Given the description of an element on the screen output the (x, y) to click on. 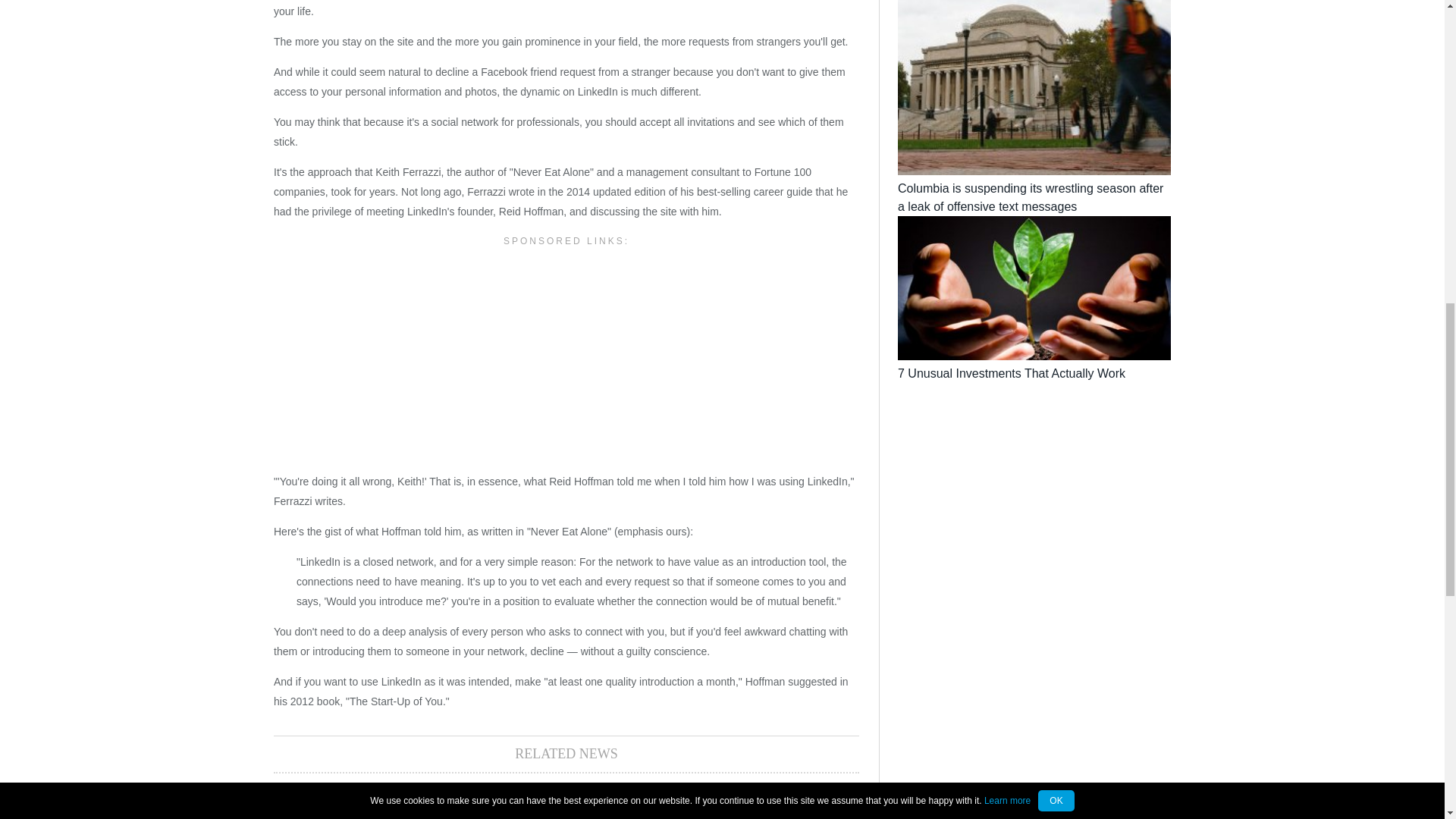
BUSINESS (328, 796)
BUSINESS (621, 796)
